Given the description of an element on the screen output the (x, y) to click on. 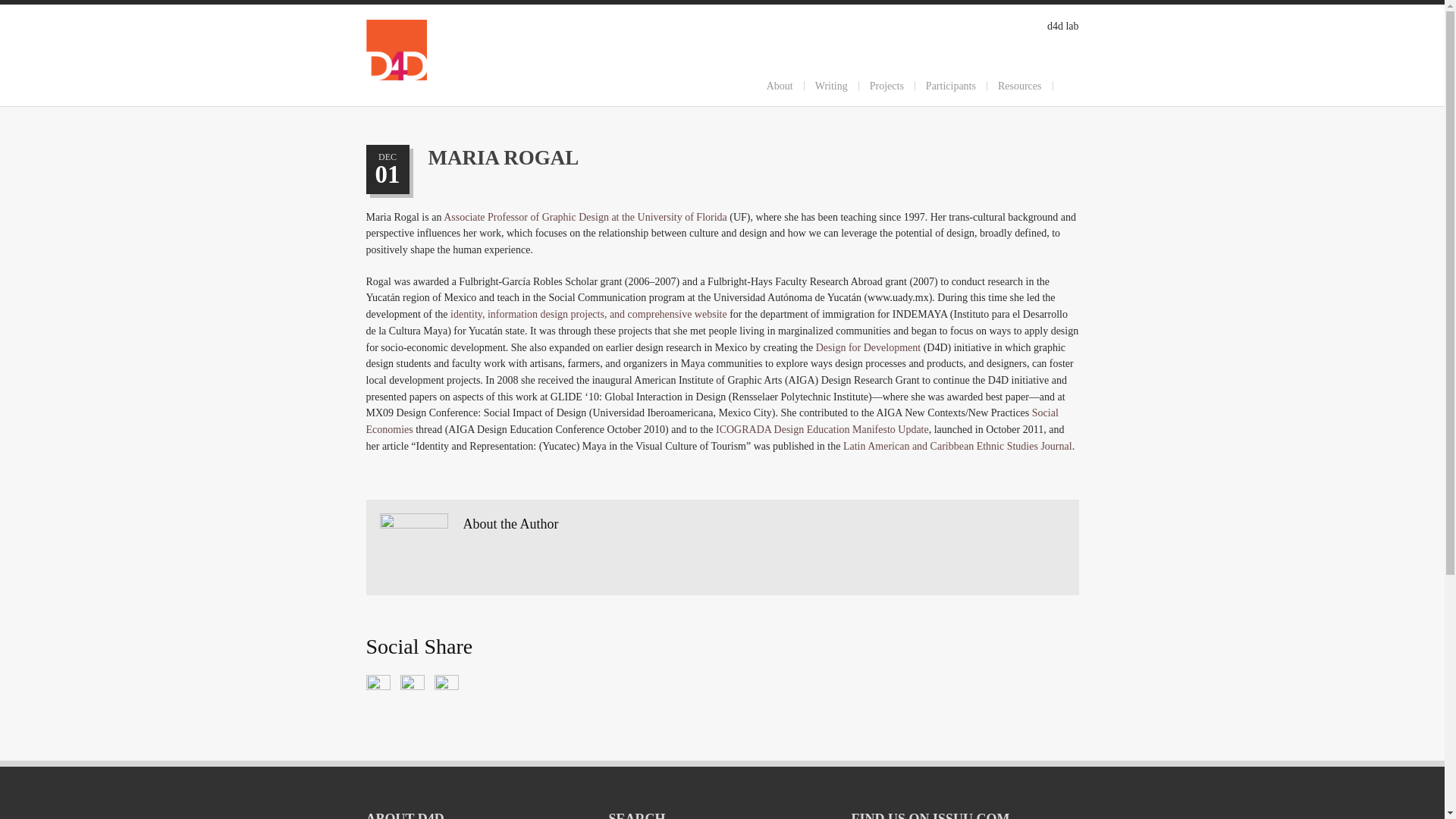
Projects (886, 85)
Design for Development (867, 346)
Writing (831, 85)
Resources (1019, 85)
Social Economies (711, 420)
ICOGRADA Design Education Manifesto Update (822, 429)
Latin American and Caribbean Ethnic Studies Journal (957, 446)
MARIA ROGAL (503, 157)
